Given the description of an element on the screen output the (x, y) to click on. 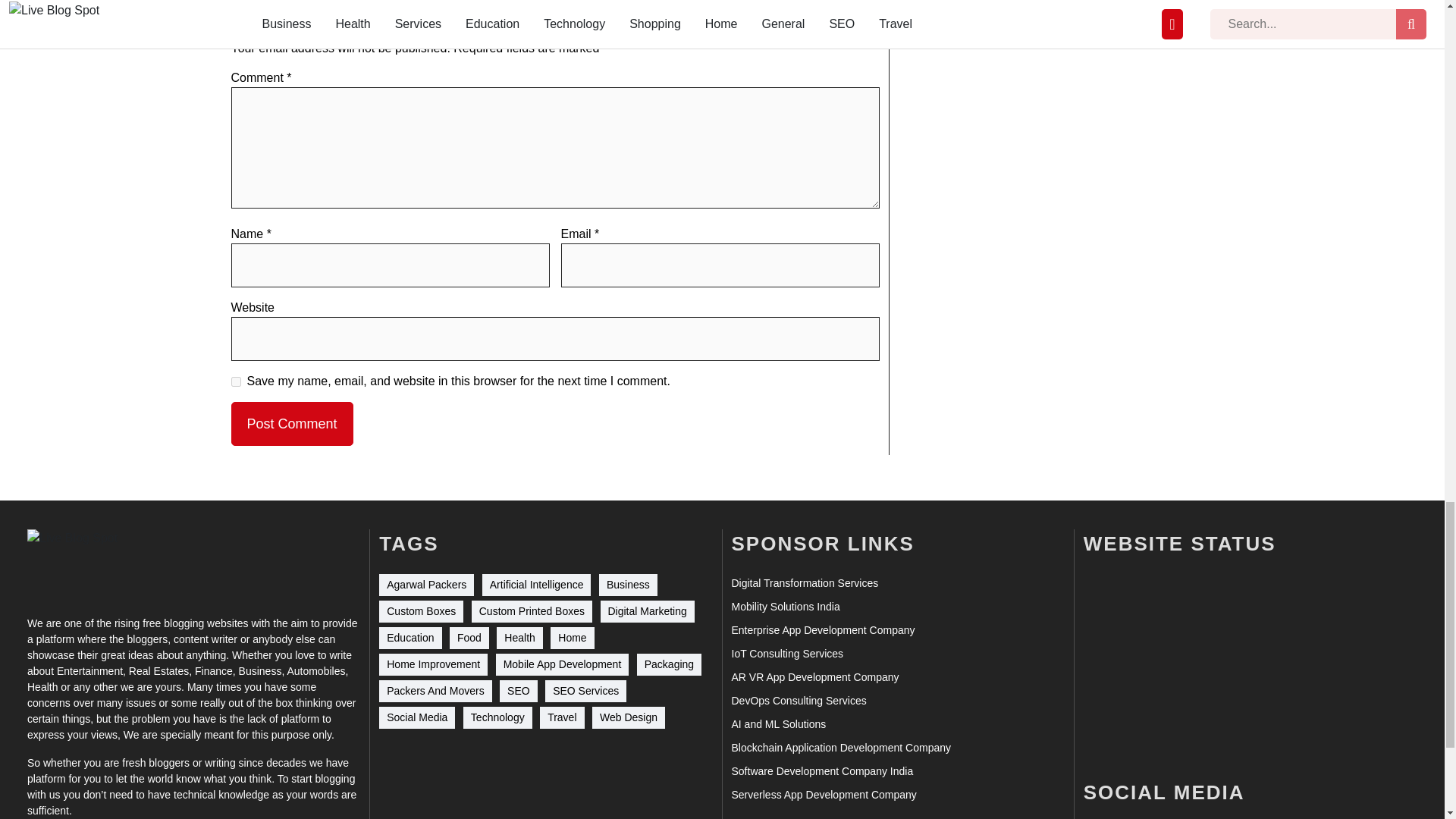
Post Comment (291, 423)
DevOps Consulting Services (798, 700)
Live Blog Spot (81, 563)
Digital Transformation Services (803, 583)
Enterprise App Development Company (822, 630)
IoT Consulting Services (786, 653)
yes (235, 381)
Post Comment (291, 423)
Mobility Solutions India (785, 606)
AR VR App Development Company (814, 677)
